Given the description of an element on the screen output the (x, y) to click on. 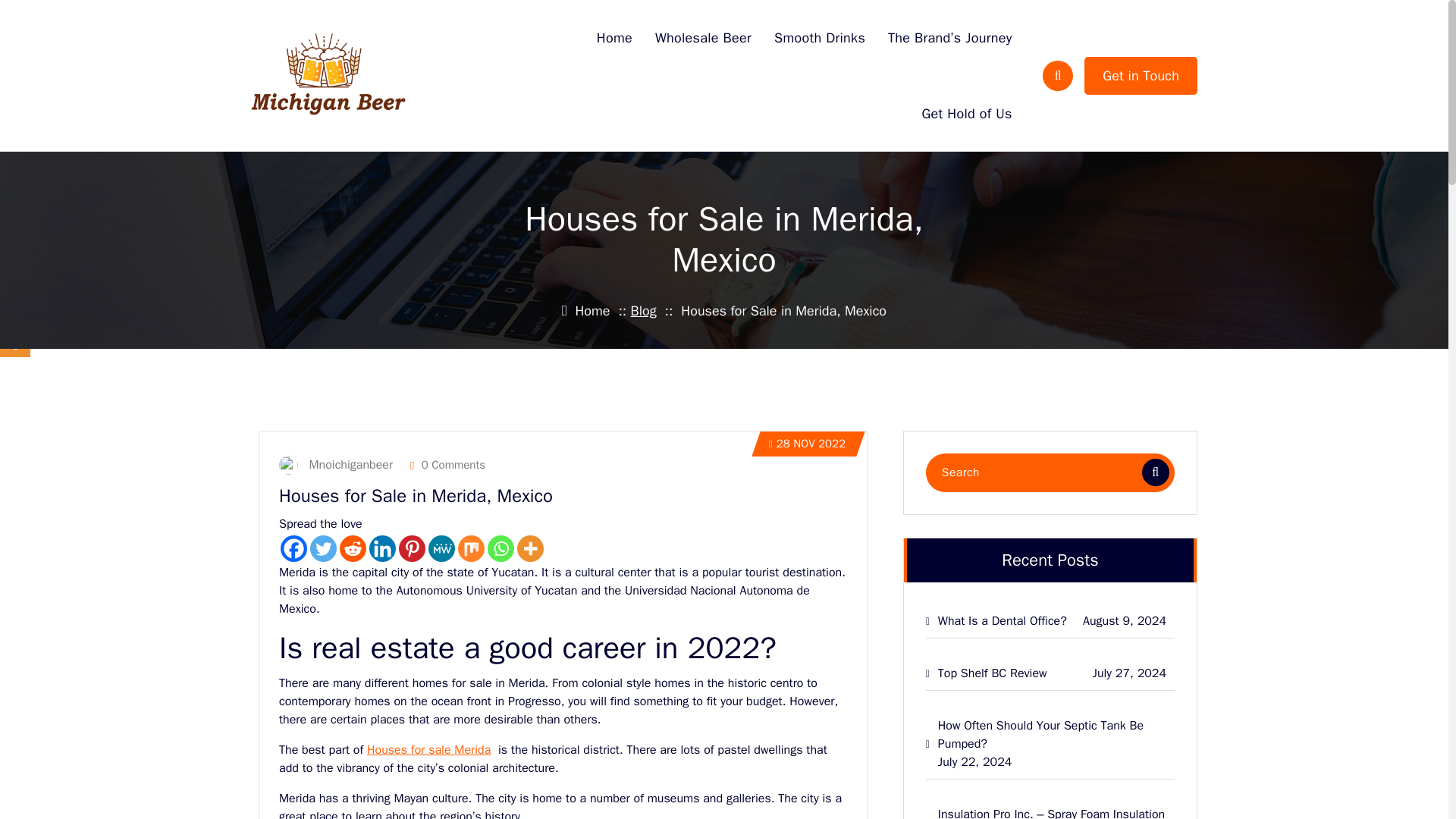
MeWe (441, 548)
0 Comments (447, 464)
Reddit (352, 548)
28 NOV 2022 (806, 443)
Houses for sale Merida (428, 749)
Twitter (323, 548)
Smooth Drinks (818, 38)
Facebook (294, 548)
Get Hold of Us (966, 113)
Whatsapp (500, 548)
